Given the description of an element on the screen output the (x, y) to click on. 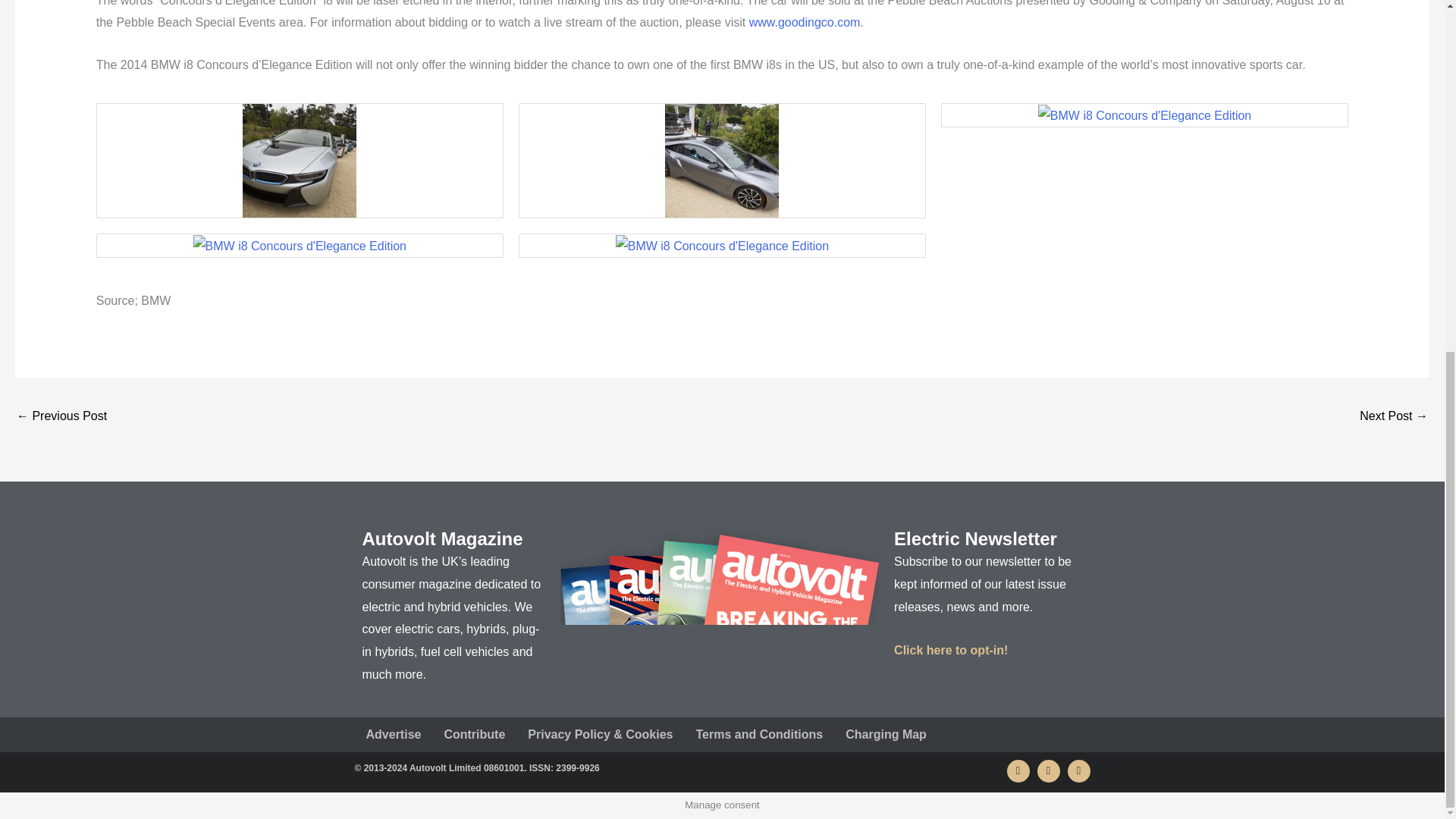
A handy map of your nearest charge point locations (885, 734)
www.goodingco.com (804, 21)
AutoVolt website terms and conditions (759, 734)
Tesla Improve Warranty, with No Catch (1393, 417)
